Given the description of an element on the screen output the (x, y) to click on. 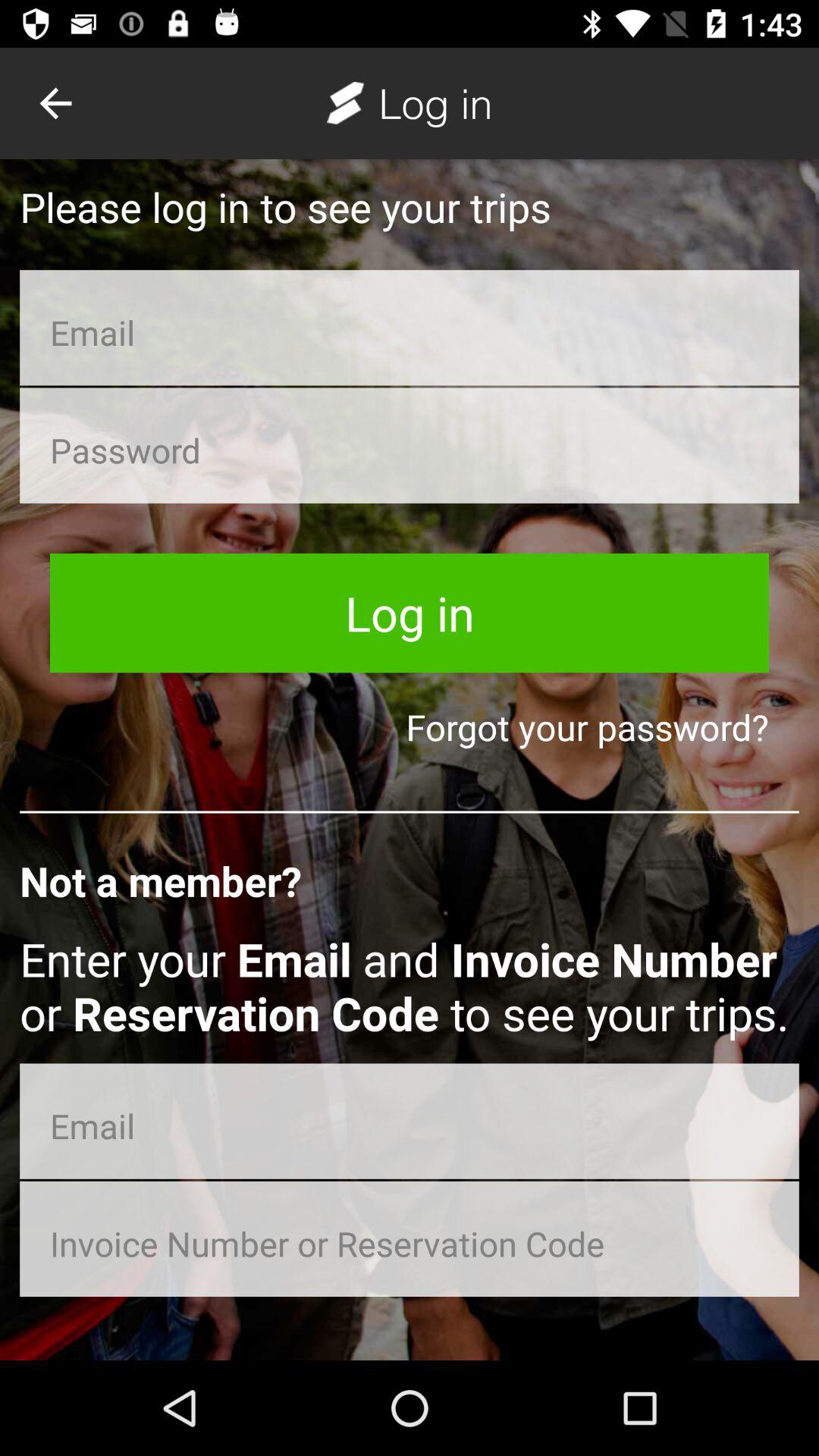
text box to insert email (409, 327)
